Given the description of an element on the screen output the (x, y) to click on. 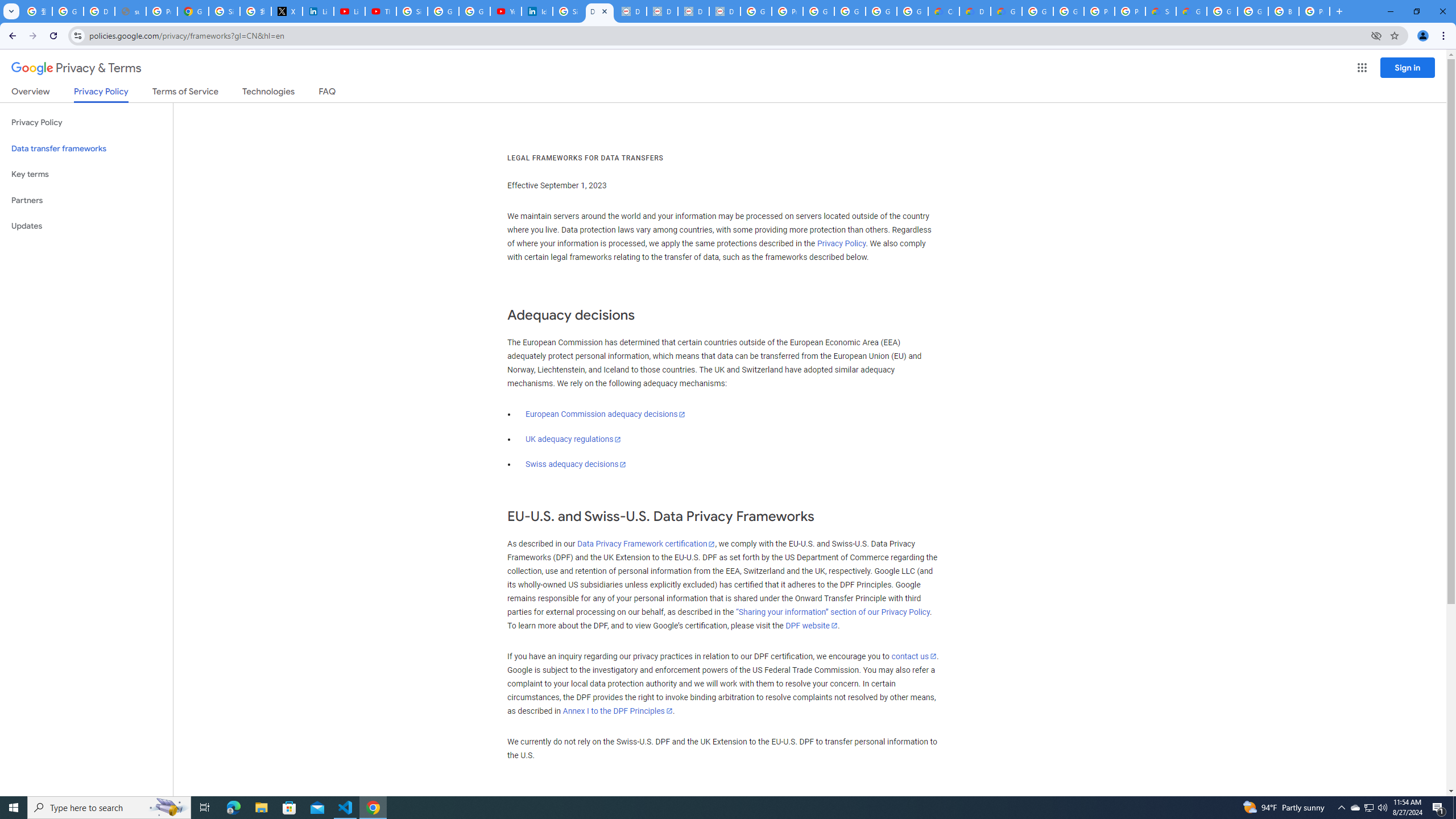
Google Cloud Platform (1037, 11)
Support Hub | Google Cloud (1160, 11)
Data Privacy Framework (724, 11)
Google Cloud Platform (1252, 11)
Gemini for Business and Developers | Google Cloud (1005, 11)
